Given the description of an element on the screen output the (x, y) to click on. 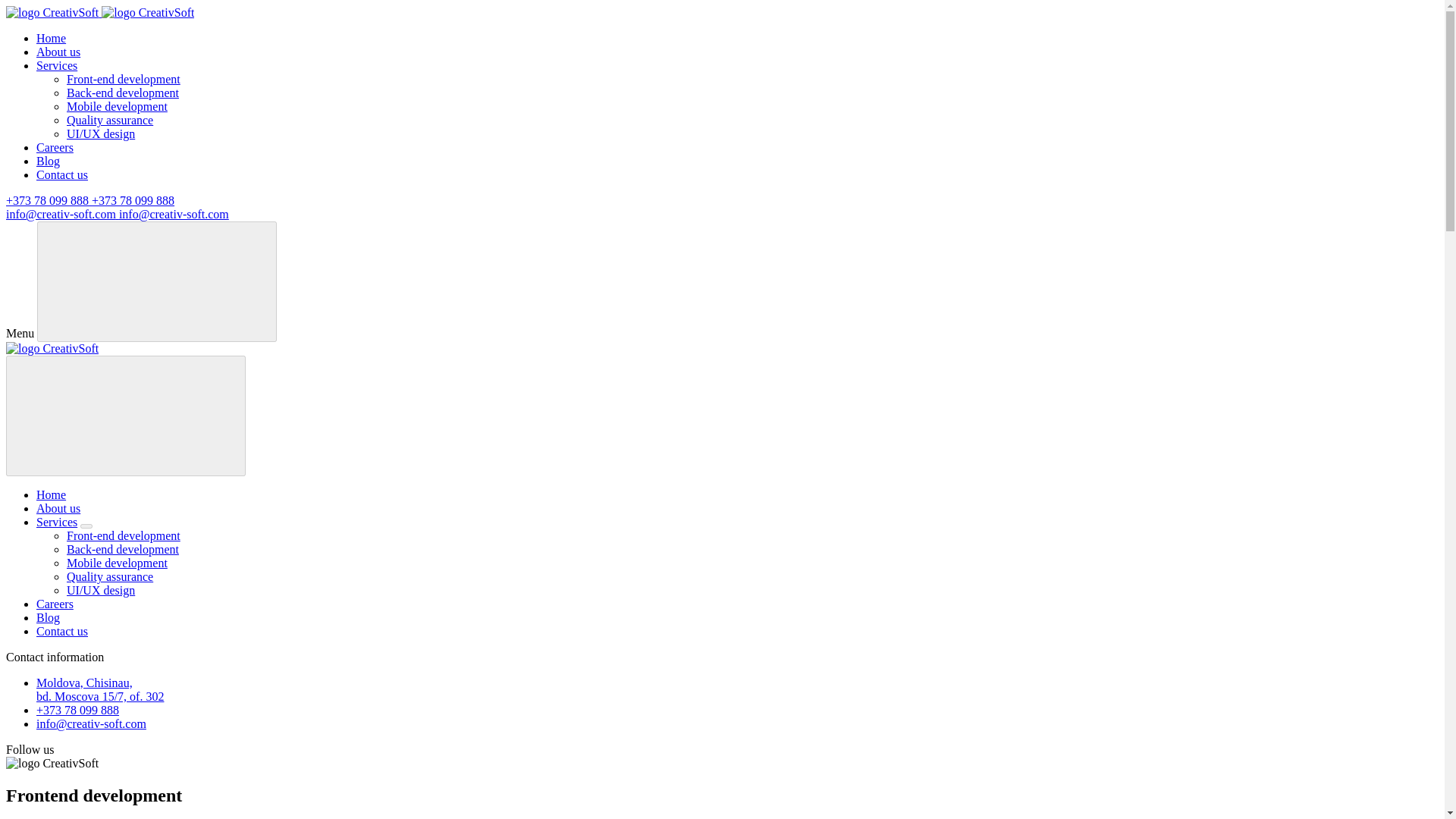
About us (58, 51)
Services (56, 65)
Quality assurance (109, 576)
Contact us (61, 174)
Contact us (61, 631)
Back-end development (122, 549)
Home (50, 38)
Careers (55, 603)
Services (56, 521)
Mobile development (116, 106)
